Given the description of an element on the screen output the (x, y) to click on. 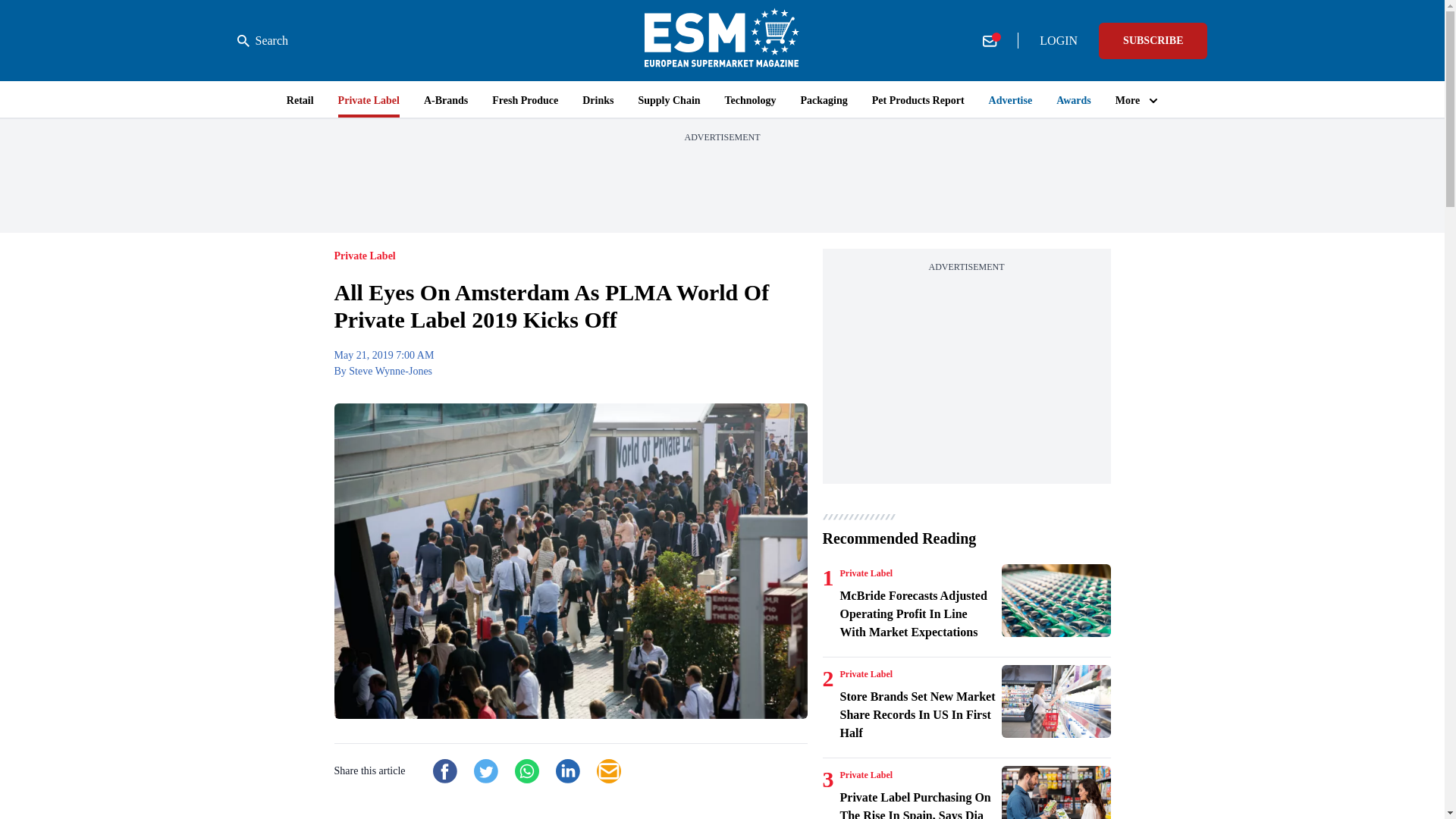
Private Label (866, 674)
Private Label (866, 775)
Private Label (866, 573)
ESM (722, 40)
Search (261, 40)
